Given the description of an element on the screen output the (x, y) to click on. 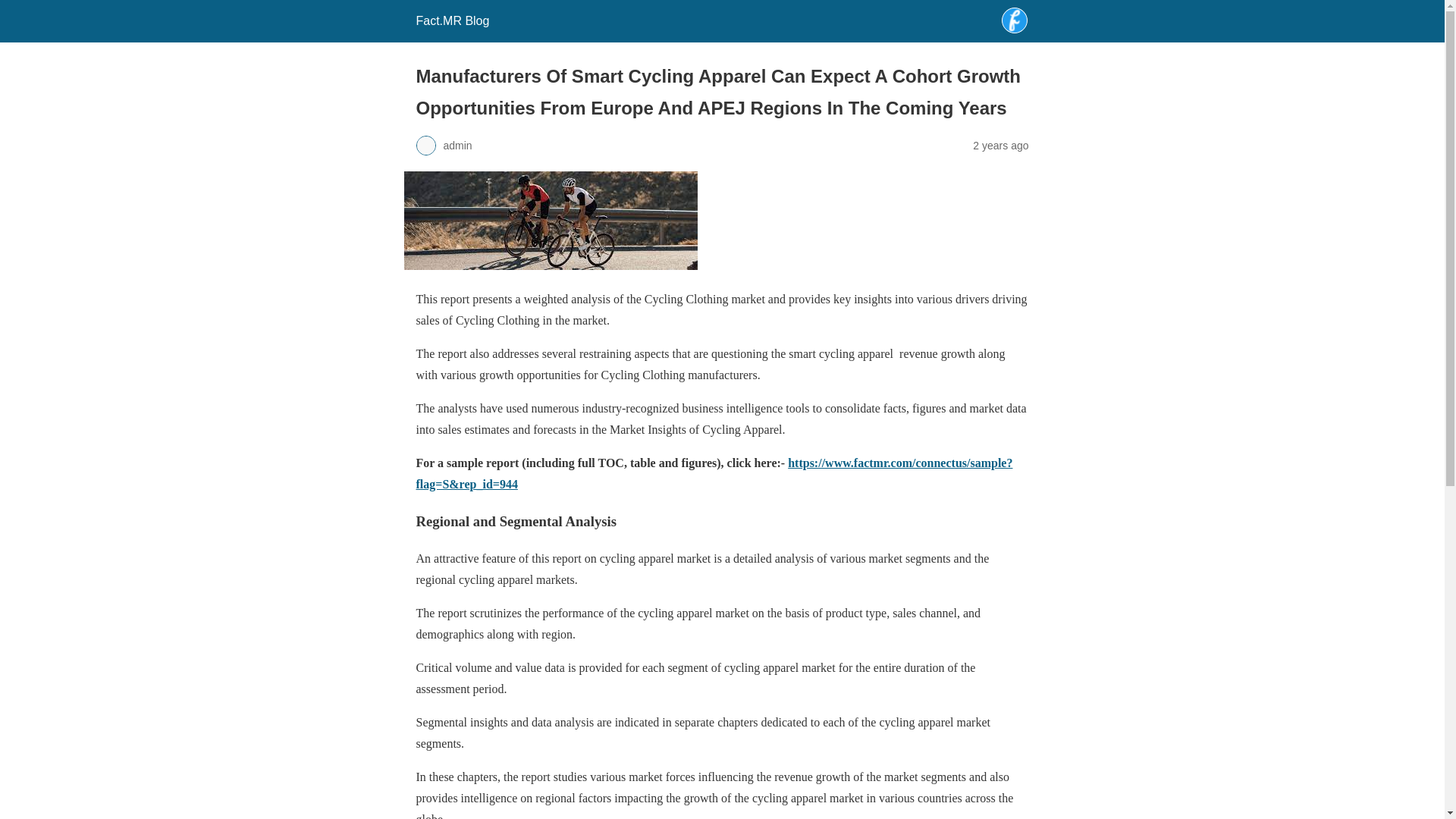
Fact.MR Blog (451, 20)
